Given the description of an element on the screen output the (x, y) to click on. 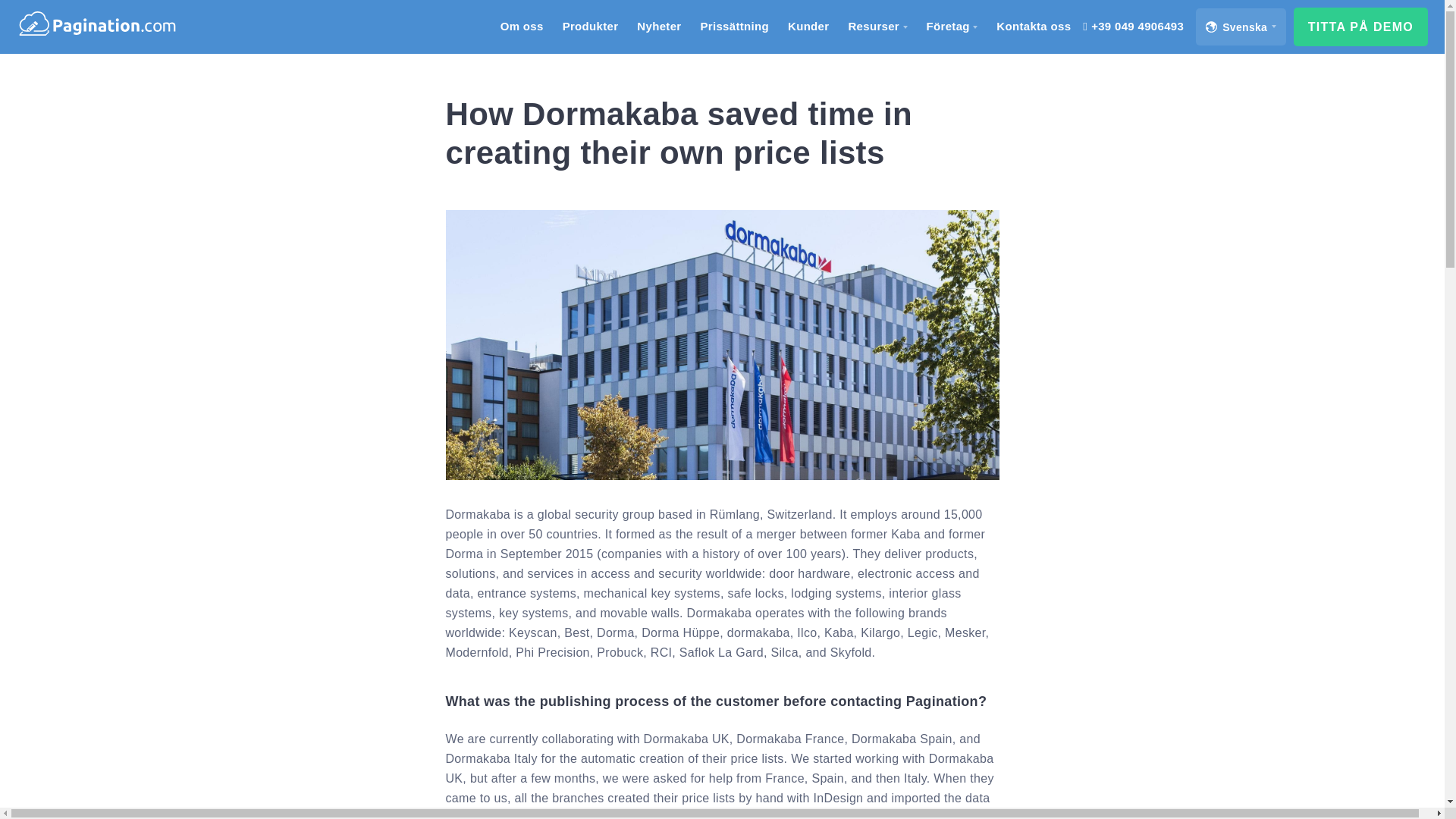
Kunder (807, 26)
Nyheter (659, 26)
Kontakta oss (1032, 26)
Resurser (877, 26)
Om oss (521, 26)
Produkter (590, 26)
Svenska (1240, 26)
